Given the description of an element on the screen output the (x, y) to click on. 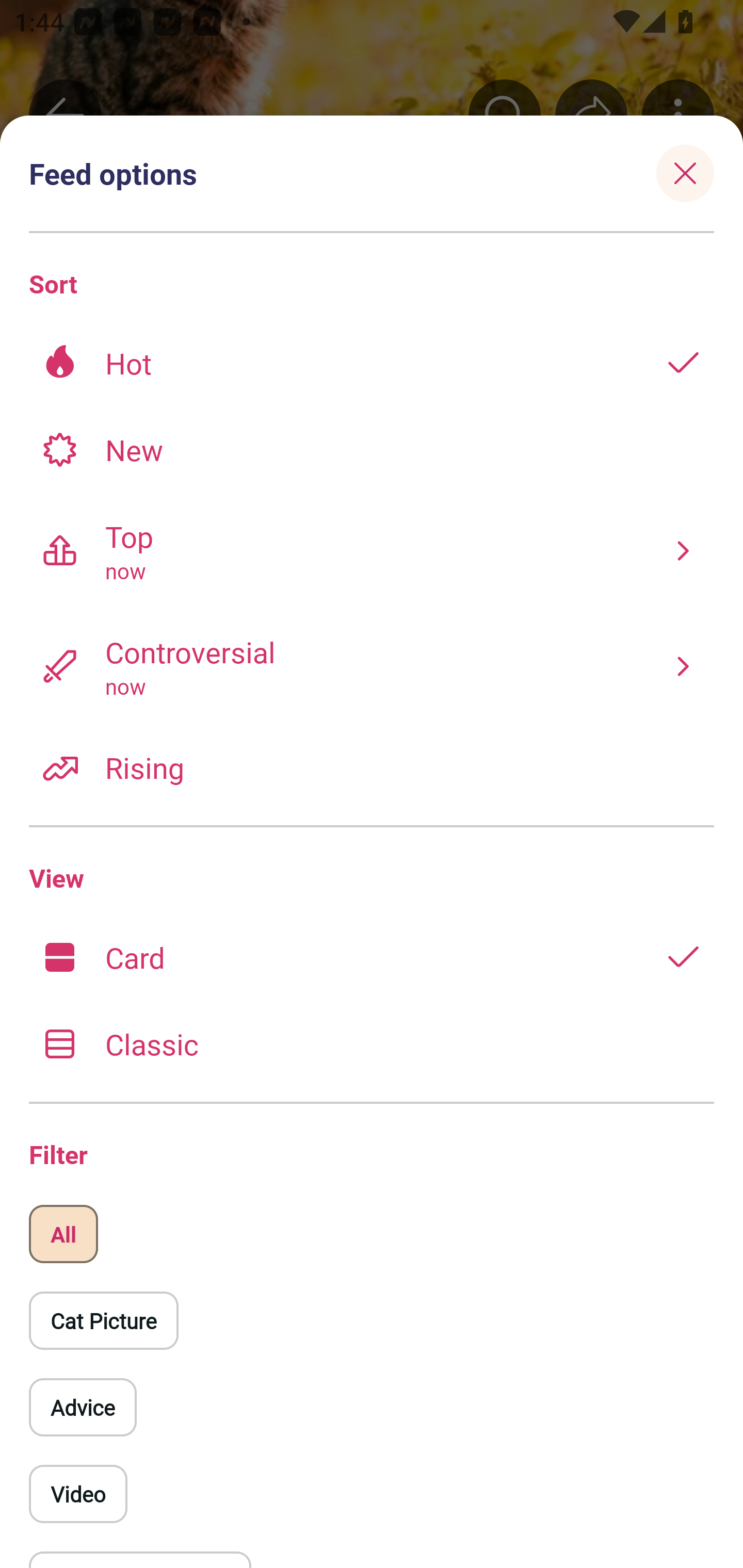
Close sheet (684, 173)
Hot (371, 362)
New (371, 449)
Top now (371, 550)
Controversial now (371, 666)
Rising (371, 767)
Card (371, 957)
Classic (371, 1043)
All (63, 1233)
Cat Picture (103, 1320)
Advice (82, 1407)
Video (77, 1493)
